Given the description of an element on the screen output the (x, y) to click on. 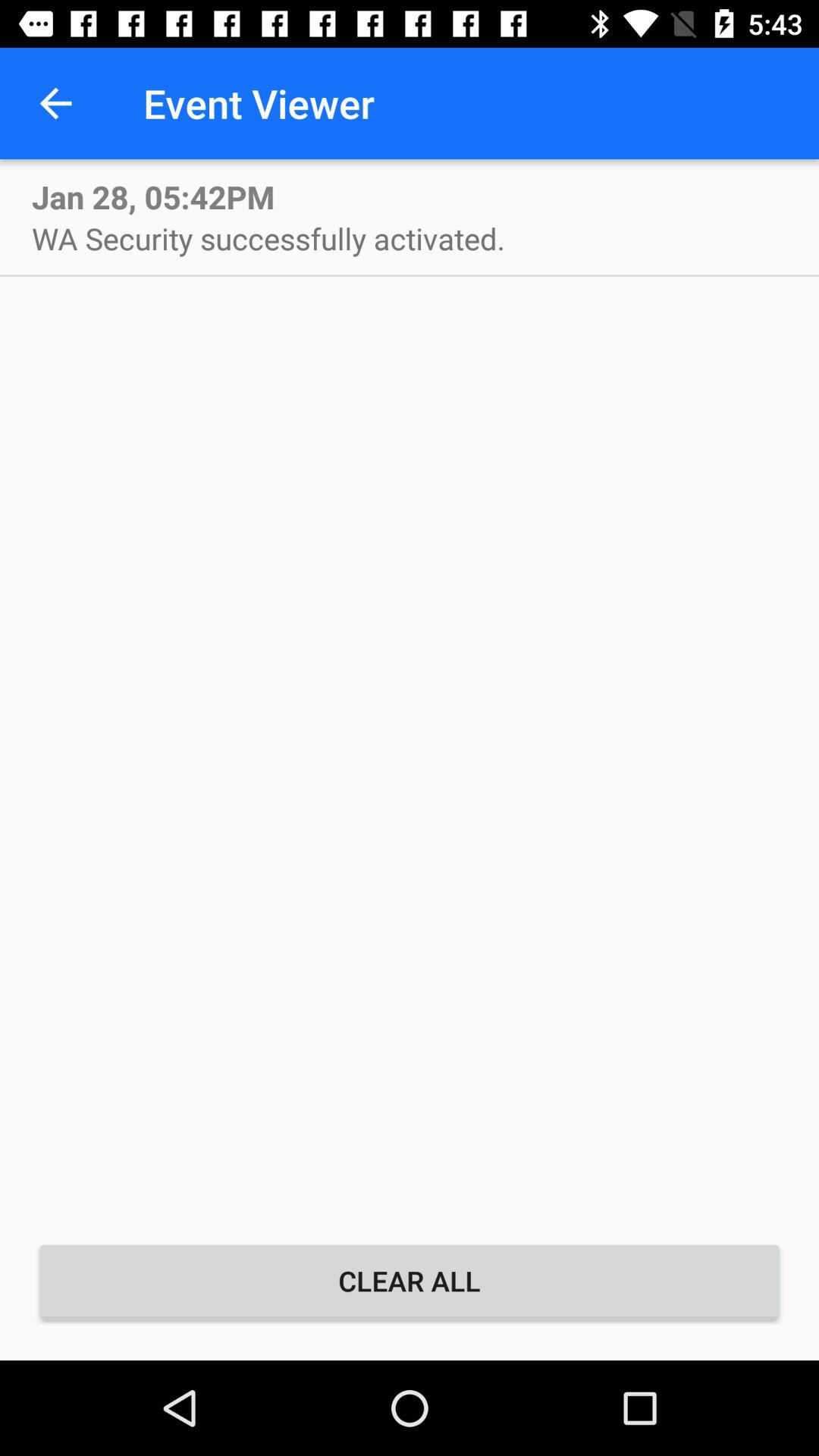
turn off the item above wa security successfully icon (152, 196)
